Given the description of an element on the screen output the (x, y) to click on. 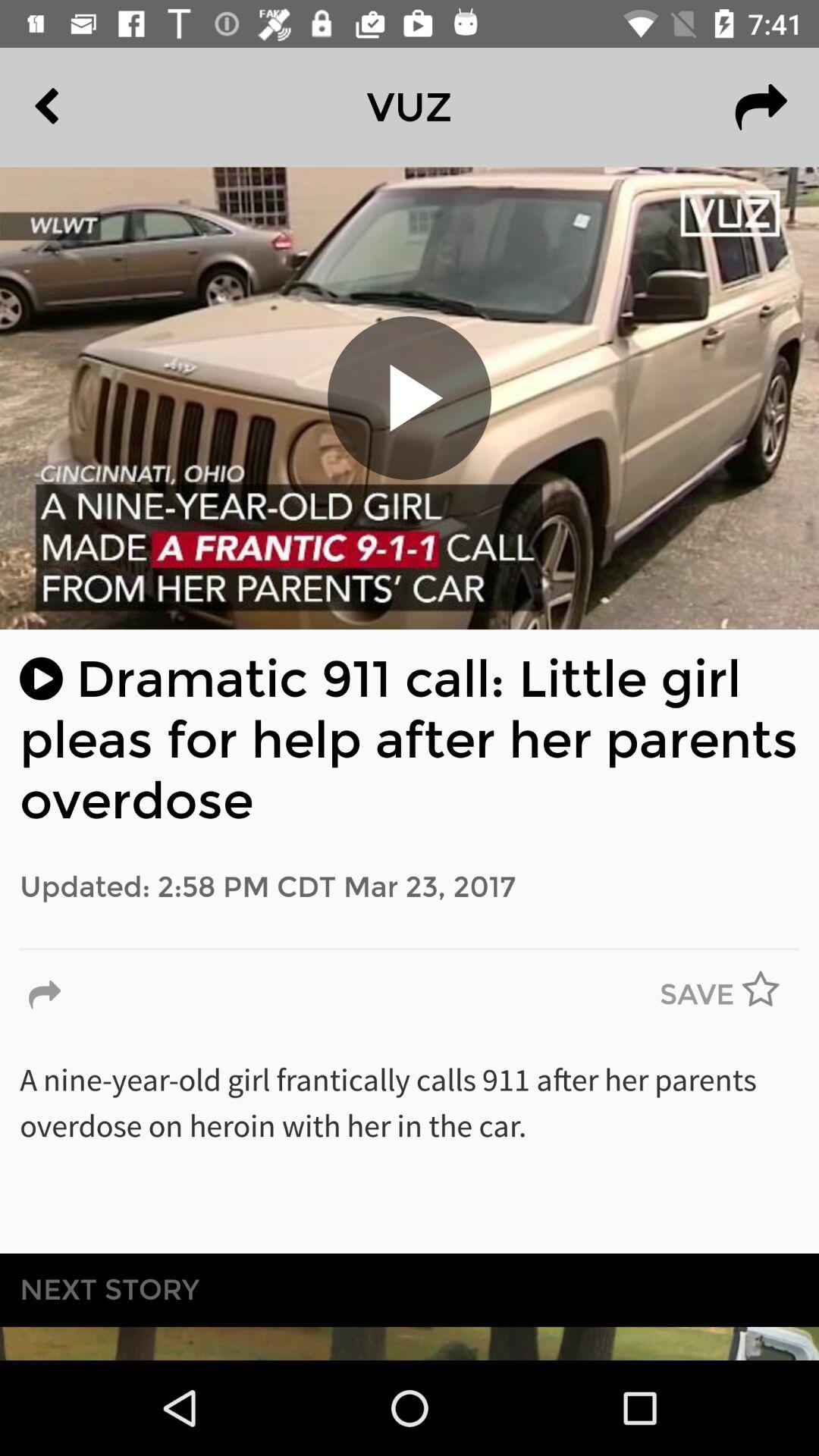
select item next to vuz icon (81, 107)
